Given the description of an element on the screen output the (x, y) to click on. 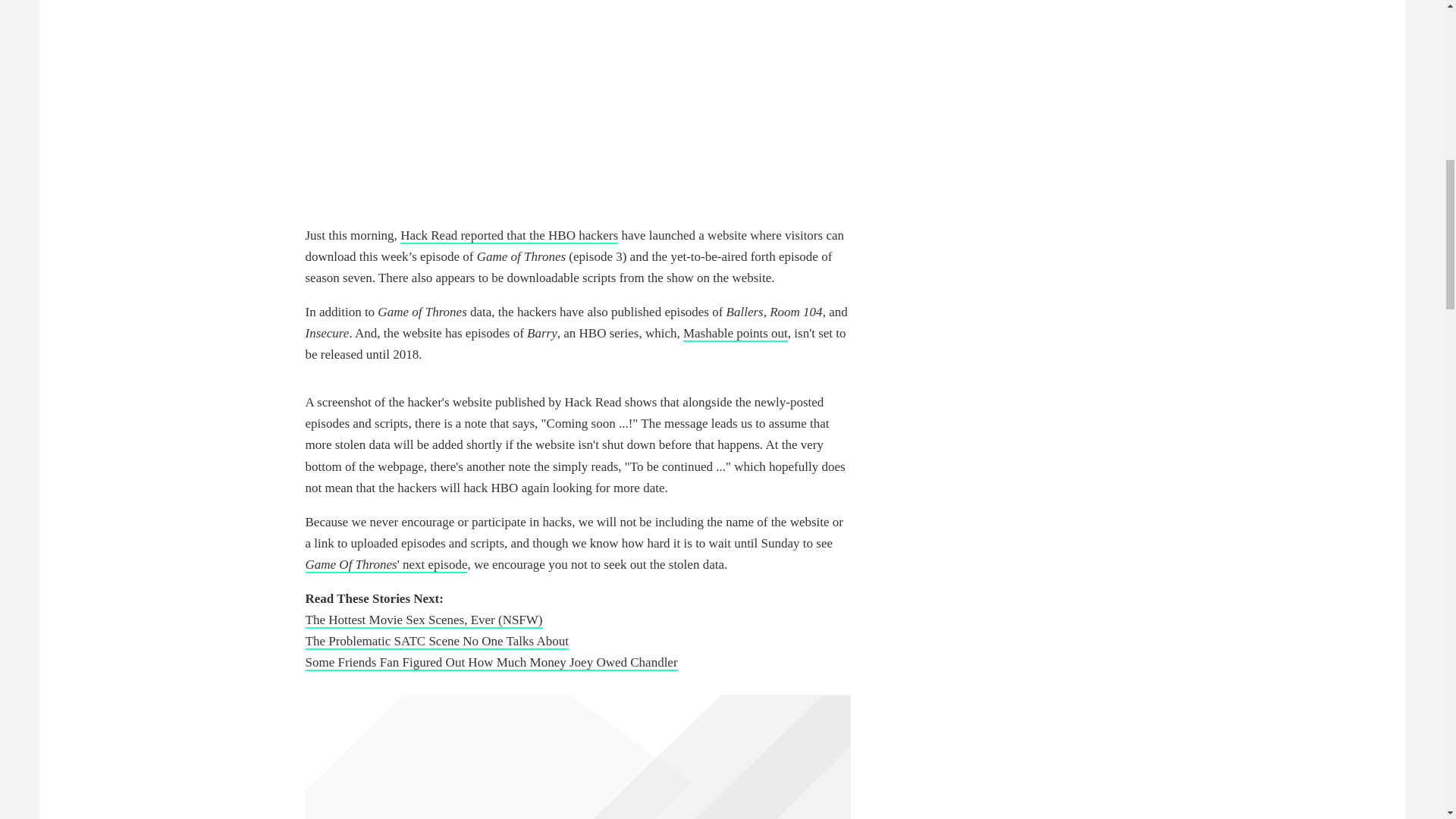
Mashable points out (734, 333)
Hack Read reported that the HBO hackers (508, 236)
Game Of Thrones' next episode (385, 565)
The Problematic SATC Scene No One Talks About (435, 641)
